Given the description of an element on the screen output the (x, y) to click on. 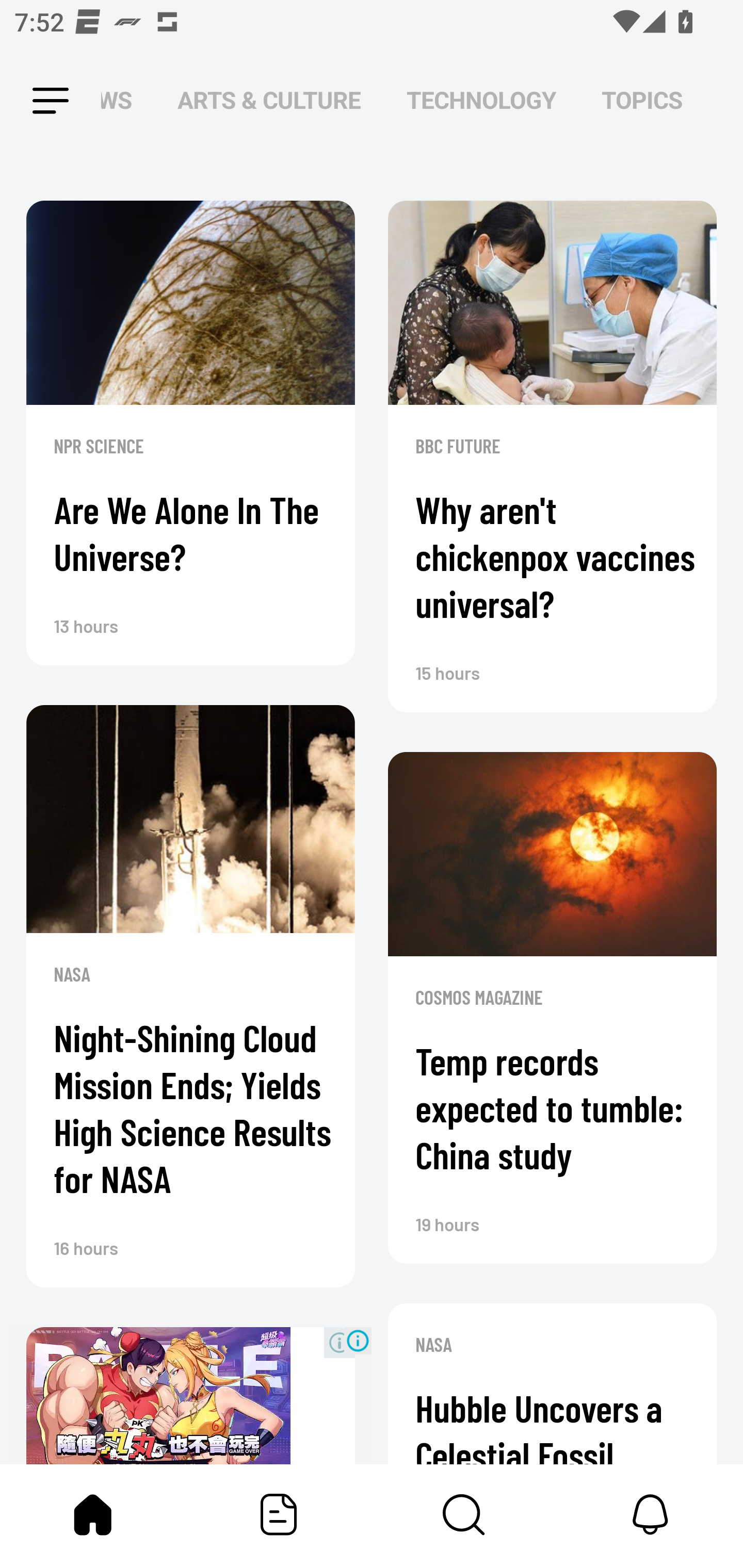
NEWS (122, 100)
ARTS & CULTURE (269, 100)
TECHNOLOGY (481, 100)
TOPICS (641, 100)
Ad Choices Icon (357, 1340)
Featured (278, 1514)
Content Store (464, 1514)
Notifications (650, 1514)
